Given the description of an element on the screen output the (x, y) to click on. 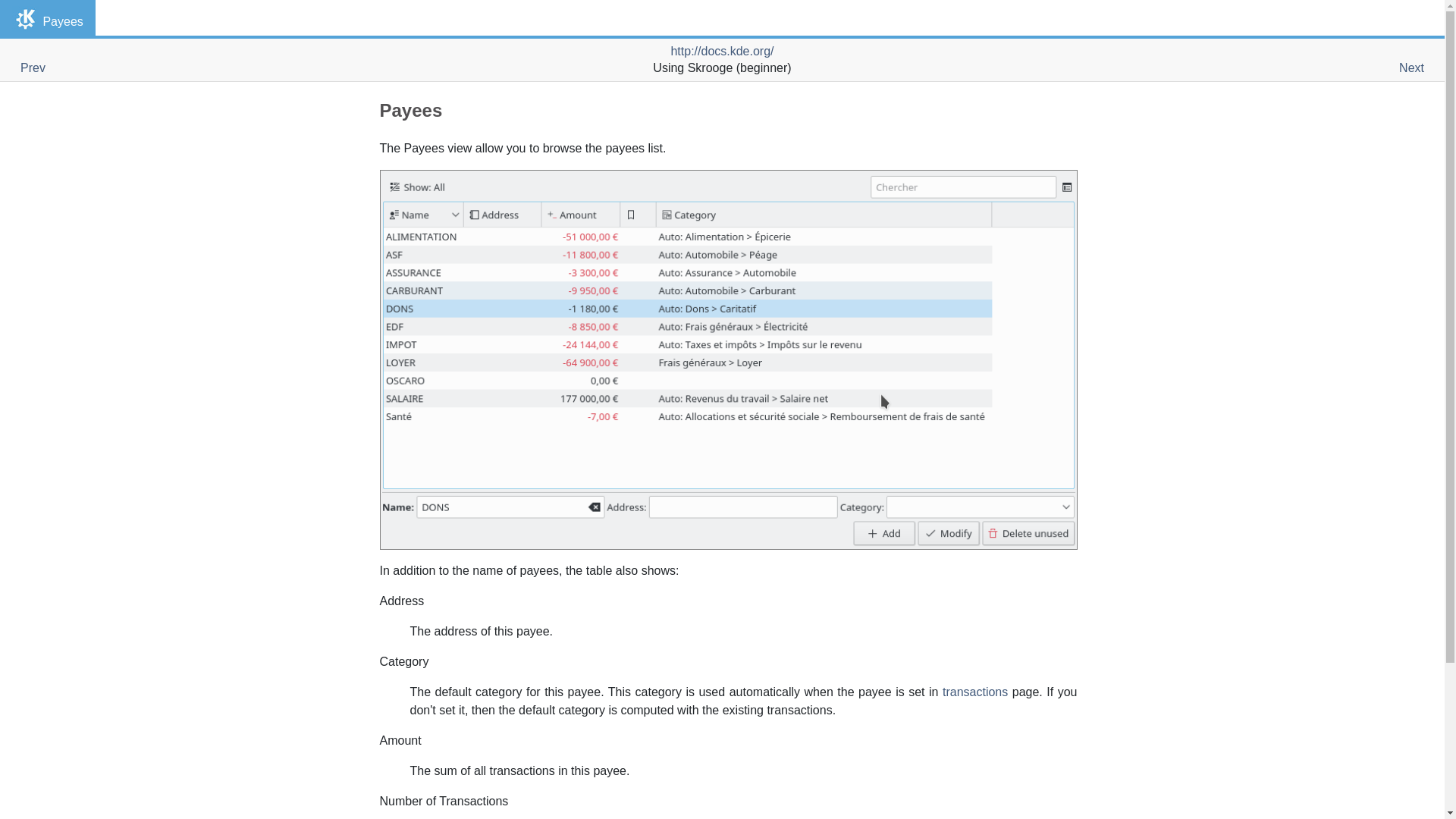
Transactions (974, 691)
transactions (974, 691)
Next (1411, 67)
Prev (32, 67)
